Given the description of an element on the screen output the (x, y) to click on. 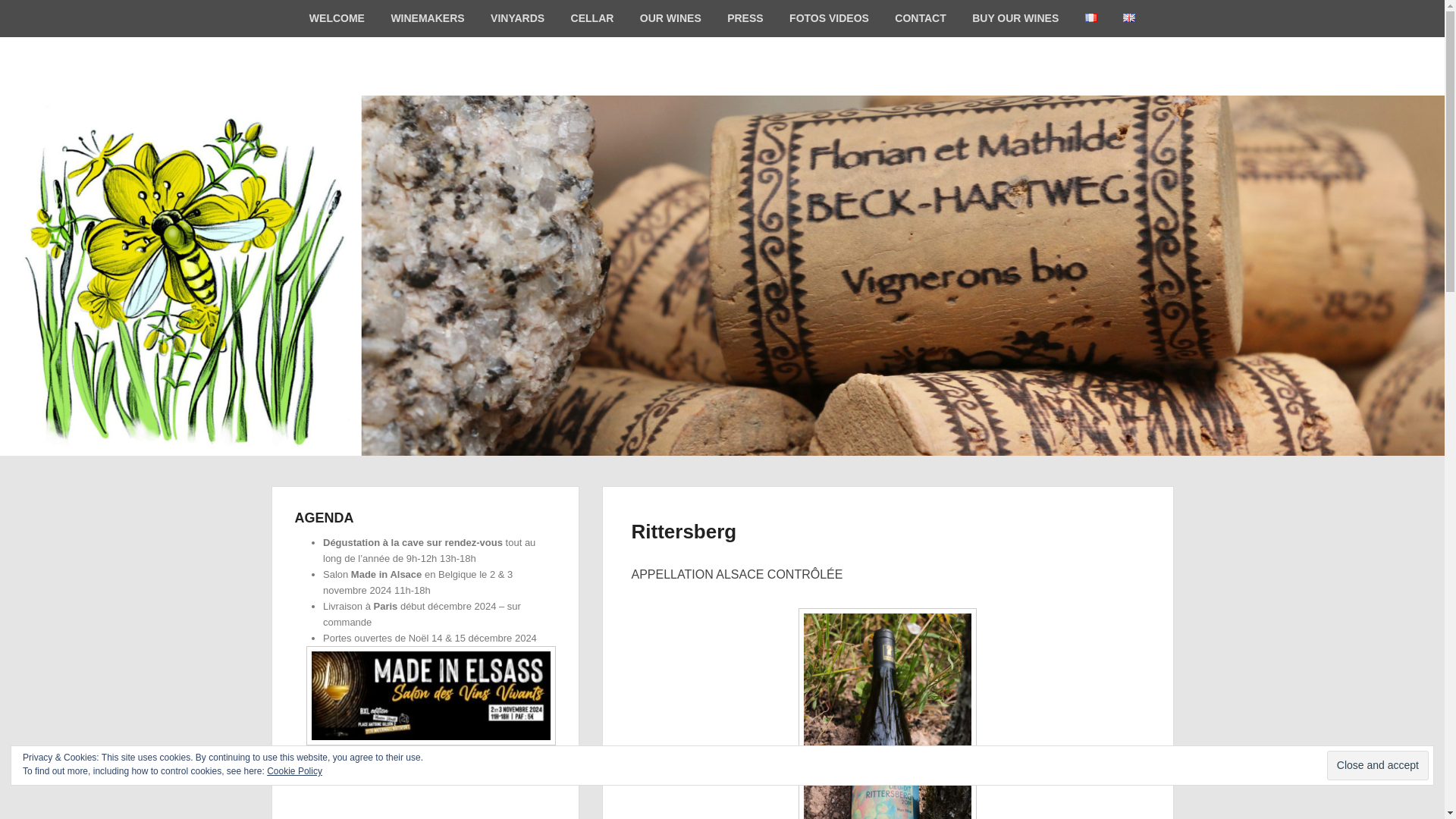
Close and accept (1377, 765)
CELLAR (592, 18)
FOTOS VIDEOS (828, 18)
CONTACT (919, 18)
OUR WINES (670, 18)
Permalink to Rittersberg (683, 531)
PRESS (745, 18)
WINEMAKERS (427, 18)
WELCOME (336, 18)
BUY OUR WINES (1015, 18)
VINYARDS (517, 18)
